Given the description of an element on the screen output the (x, y) to click on. 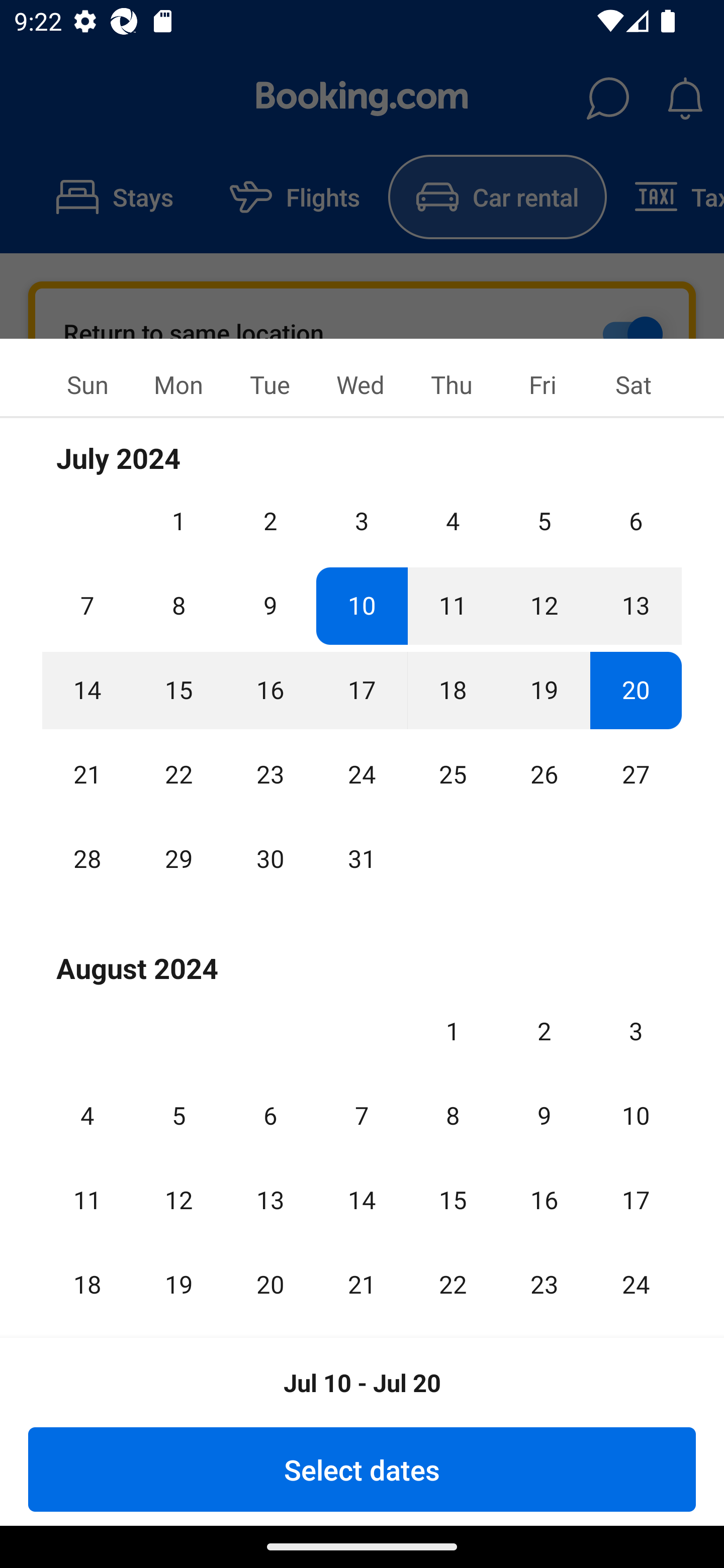
Select dates (361, 1468)
